Given the description of an element on the screen output the (x, y) to click on. 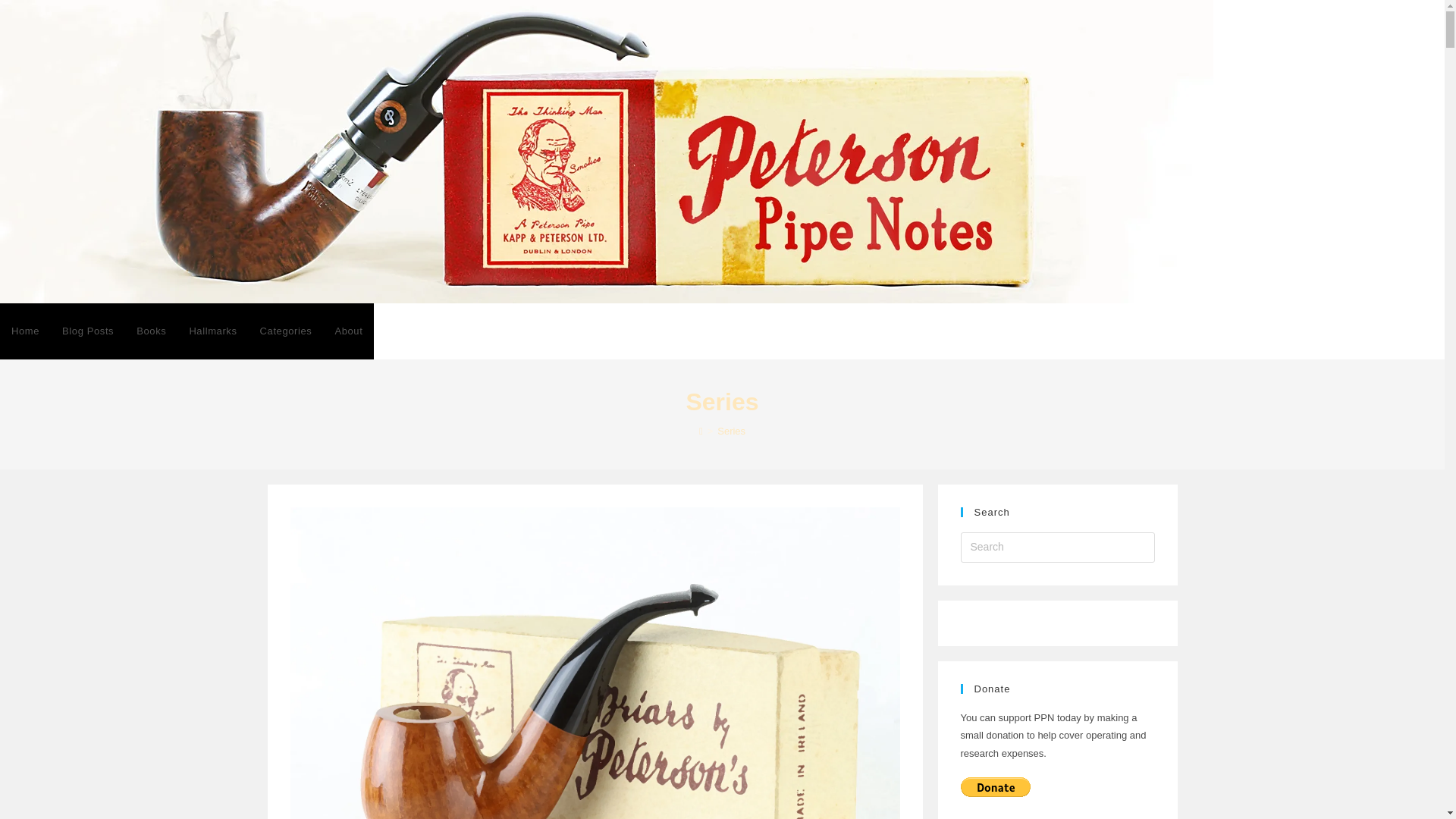
Blog Posts (87, 331)
Books (151, 331)
About (348, 331)
Hallmarks (212, 331)
Categories (285, 331)
Series (731, 430)
Home (25, 331)
